Given the description of an element on the screen output the (x, y) to click on. 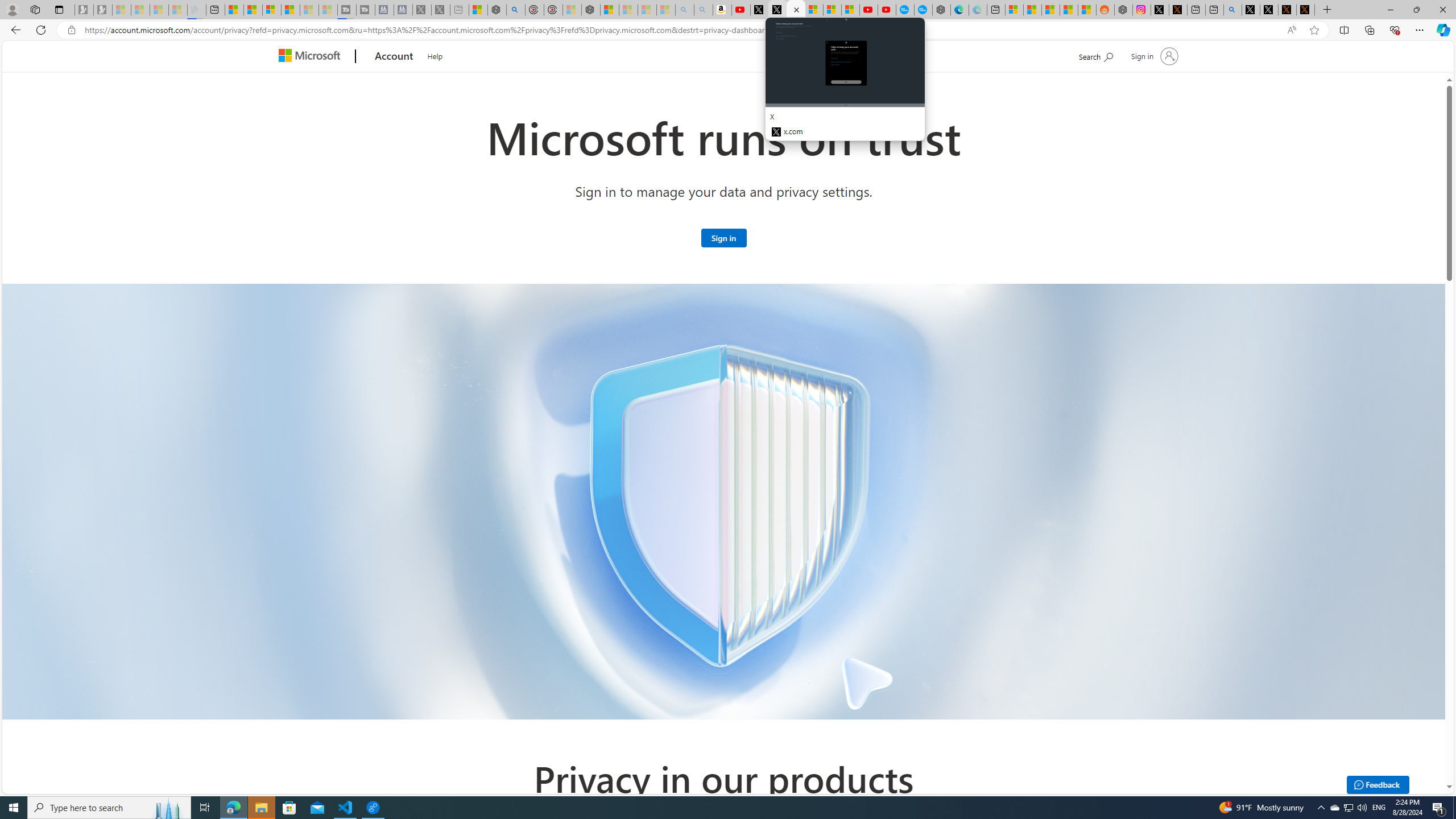
Account (394, 56)
Help (435, 54)
